Given the description of an element on the screen output the (x, y) to click on. 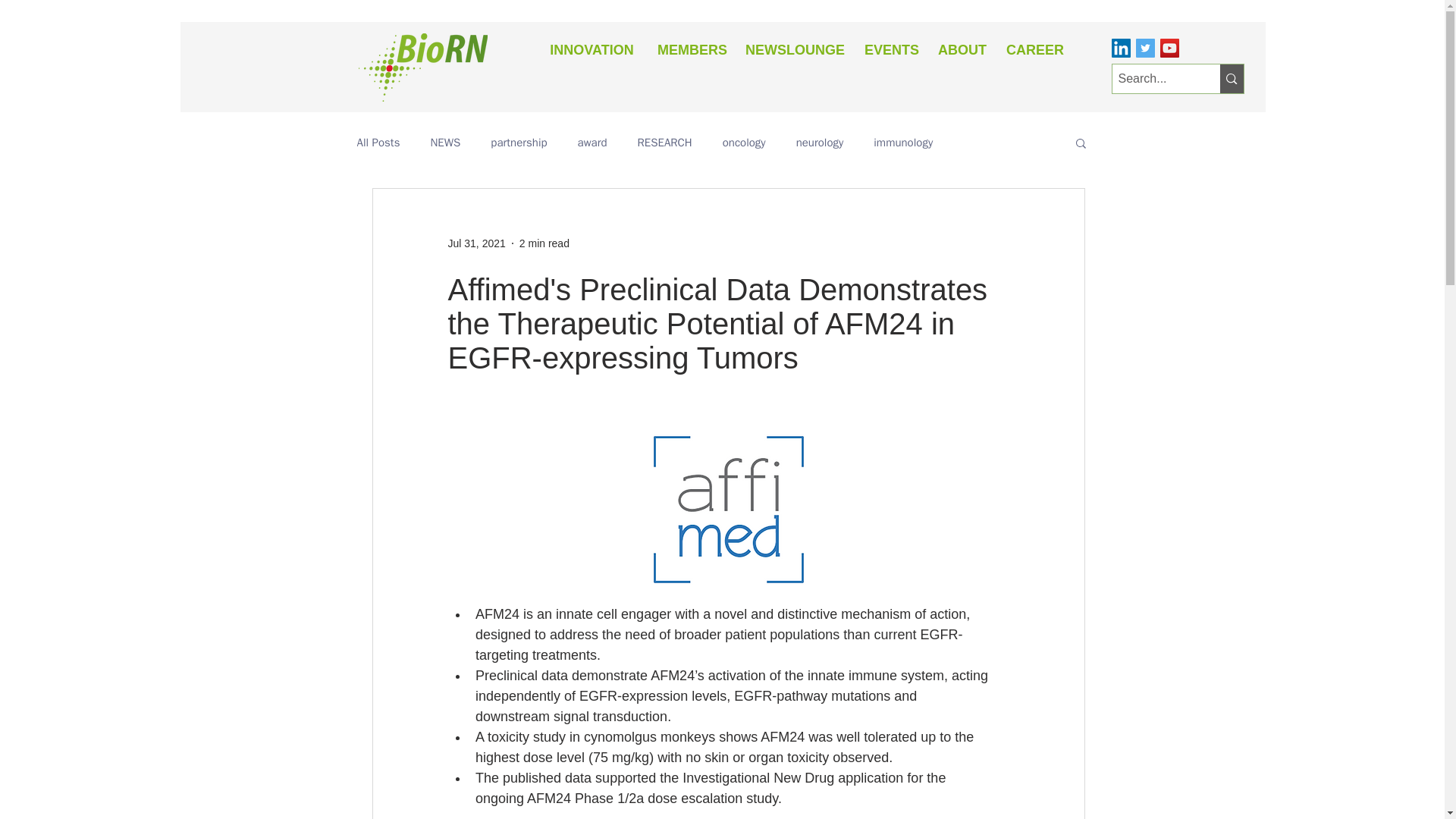
EVENTS (889, 50)
Jul 31, 2021 (475, 242)
INNOVATION (591, 50)
CAREER (1032, 50)
2 min read (544, 242)
NEWSLOUNGE (793, 50)
